Given the description of an element on the screen output the (x, y) to click on. 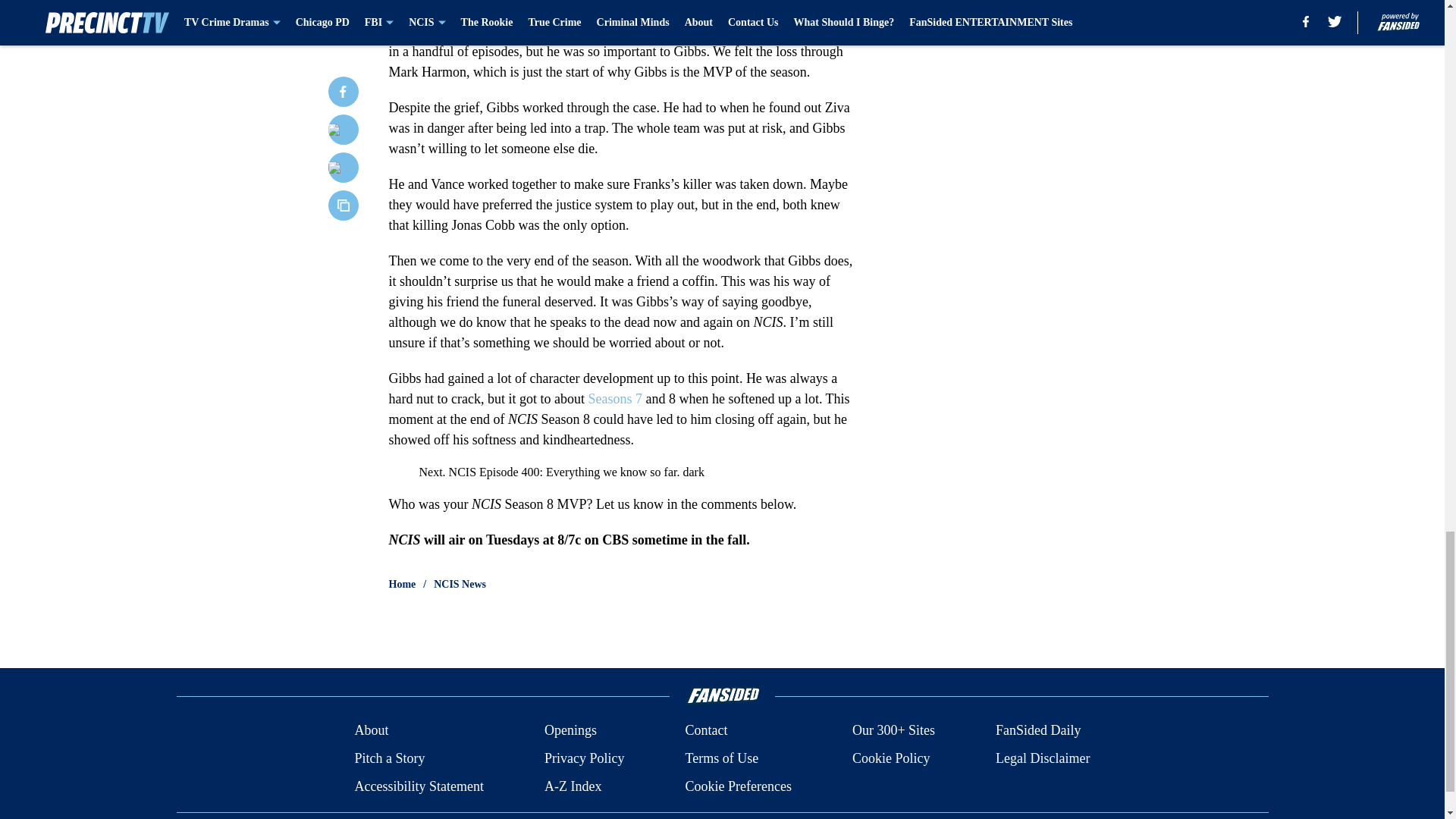
NCIS News (459, 584)
Seasons 7 (615, 398)
Home (401, 584)
